Given the description of an element on the screen output the (x, y) to click on. 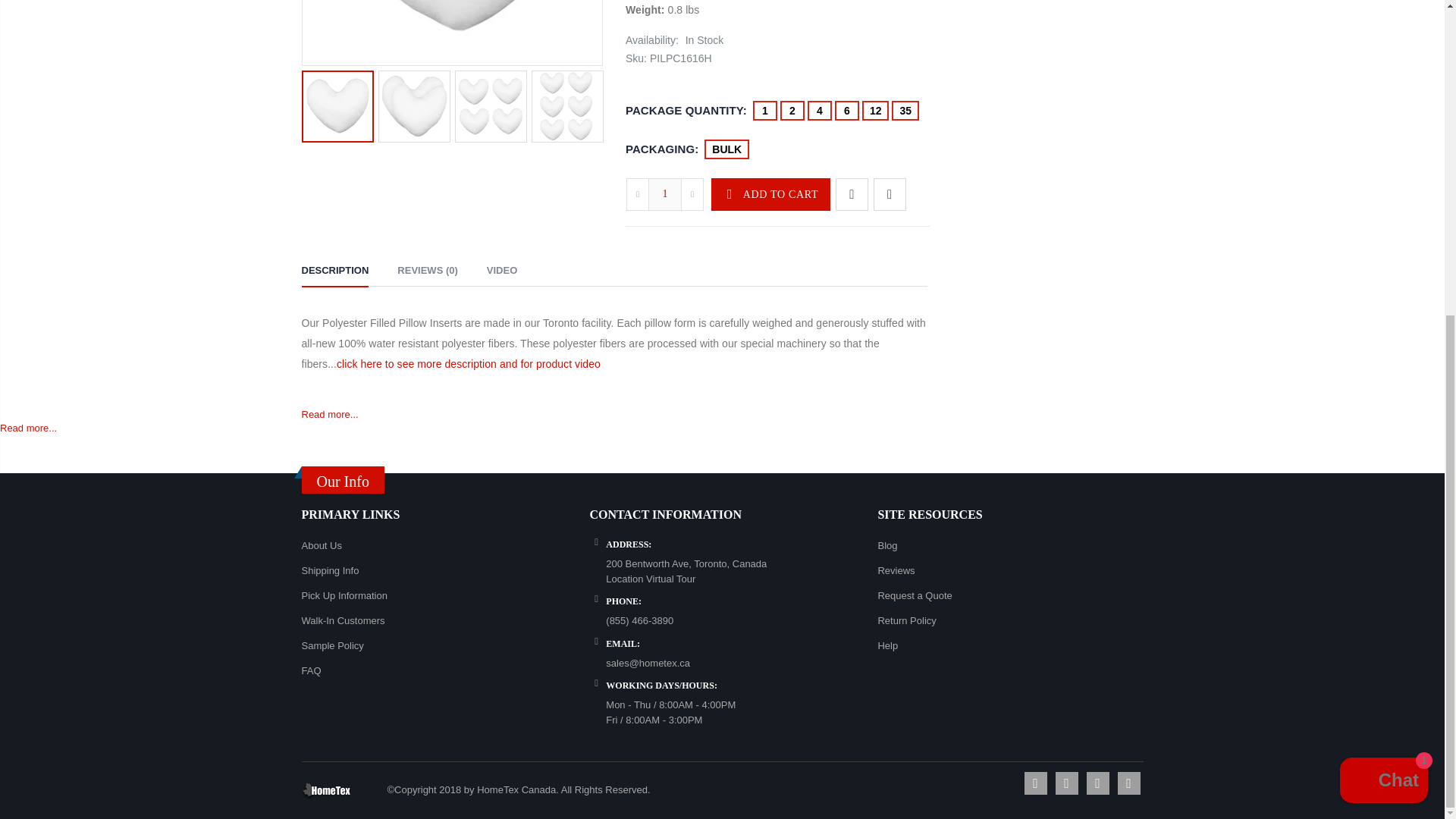
1 (664, 194)
